Given the description of an element on the screen output the (x, y) to click on. 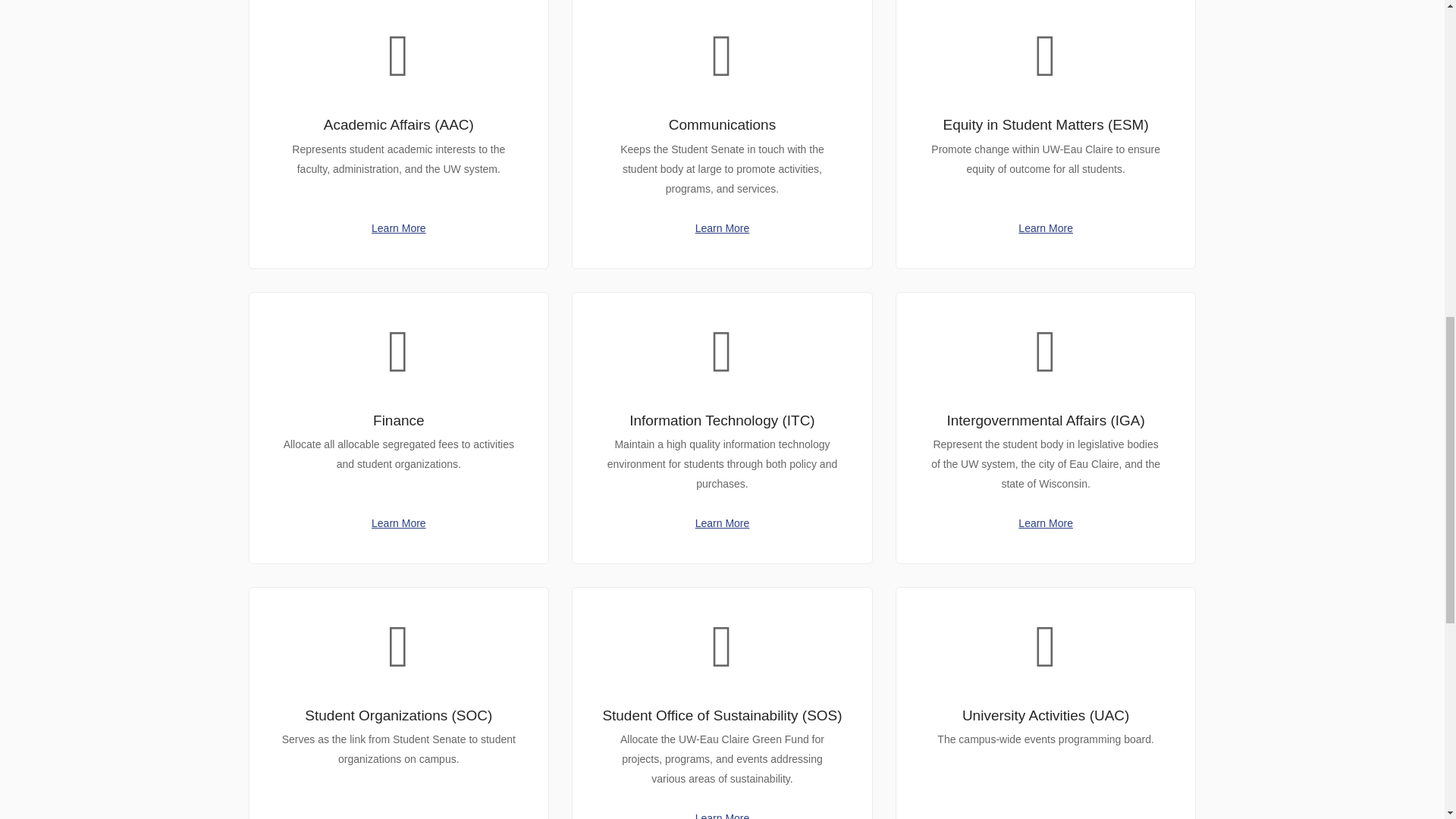
Learn More (722, 815)
Learn More (722, 522)
Learn More (1045, 522)
Learn More (722, 227)
Learn More (1045, 227)
Learn More (398, 522)
Learn More (398, 227)
